Given the description of an element on the screen output the (x, y) to click on. 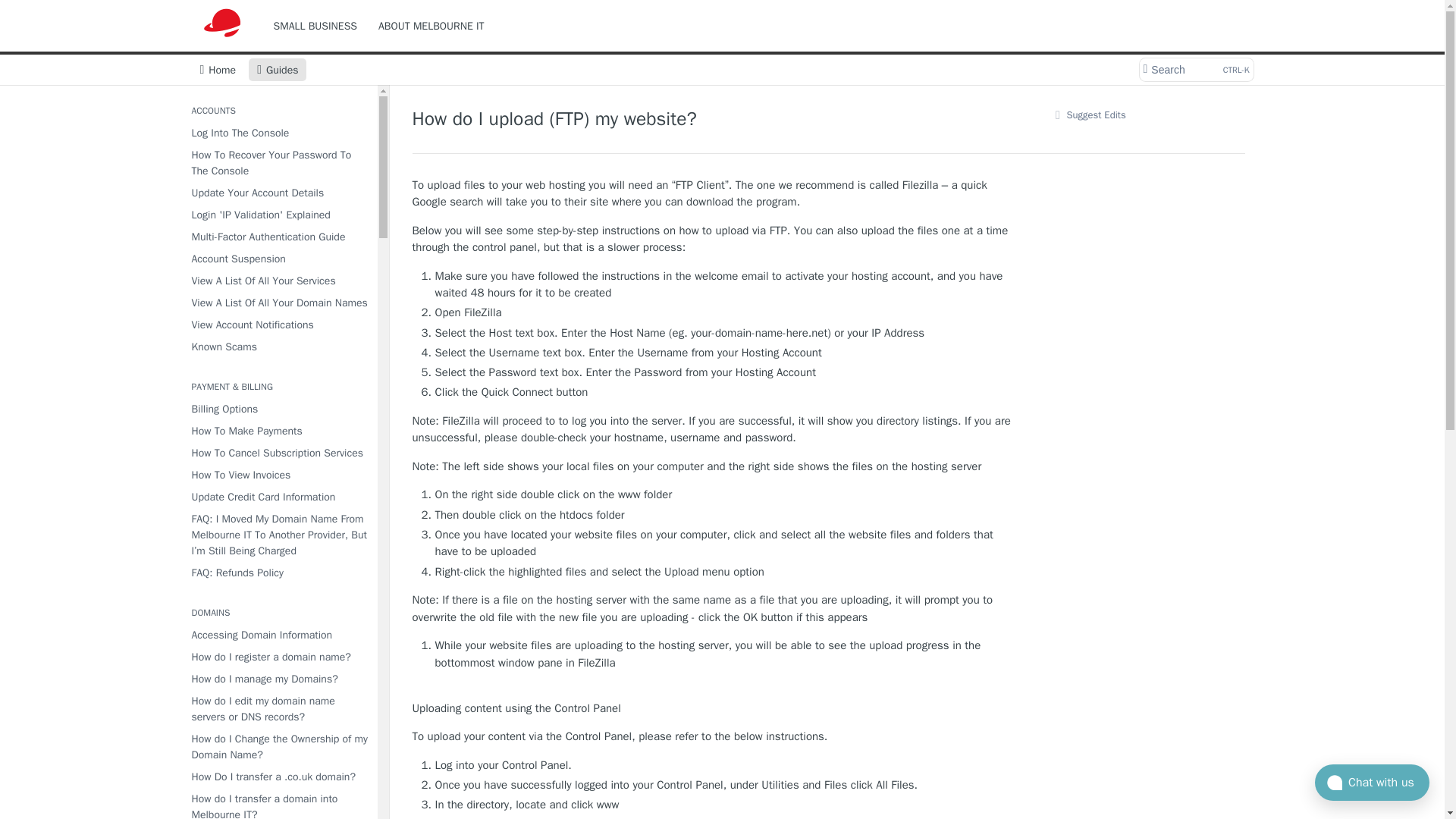
How do I transfer a domain into Melbourne IT? (277, 803)
Update Credit Card Information (277, 496)
Multi-Factor Authentication Guide (277, 236)
Log Into The Console (277, 132)
Home (217, 69)
How To View Invoices (277, 475)
View A List Of All Your Services (277, 281)
Login 'IP Validation' Explained (1195, 69)
ABOUT MELBOURNE IT (277, 214)
How Do I transfer a .co.uk domain? (431, 25)
How do I edit my domain name servers or DNS records? (277, 776)
How do I register a domain name? (277, 709)
FAQ: Refunds Policy (277, 657)
View A List Of All Your Domain Names (277, 572)
